Given the description of an element on the screen output the (x, y) to click on. 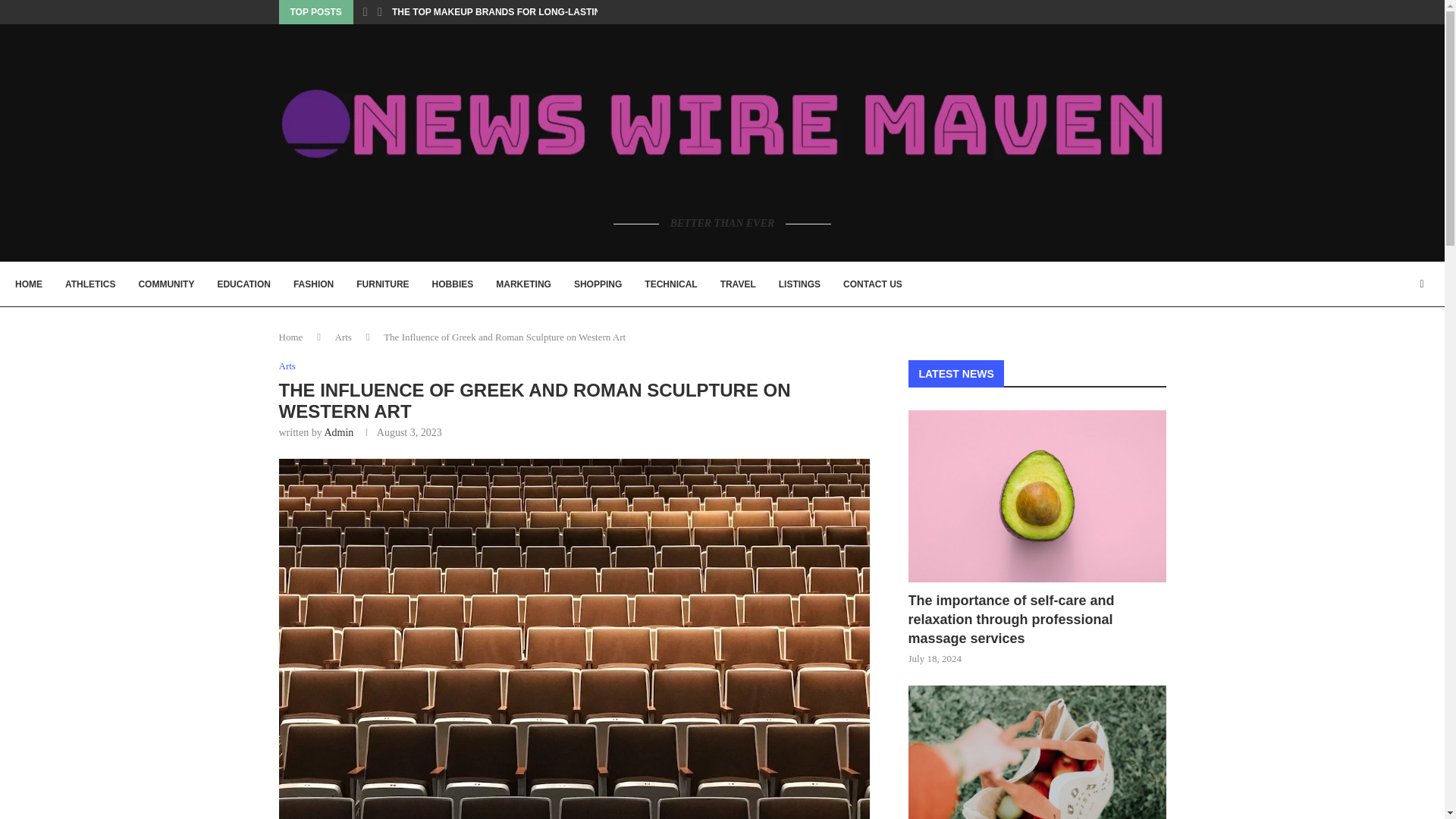
ATHLETICS (90, 284)
TRAVEL (737, 284)
COMMUNITY (165, 284)
HOBBIES (453, 284)
HOME (28, 284)
CONTACT US (872, 284)
EDUCATION (242, 284)
Home (290, 337)
FURNITURE (382, 284)
THE TOP MAKEUP BRANDS FOR LONG-LASTING AND PIGMENTED... (542, 12)
TECHNICAL (671, 284)
SHOPPING (597, 284)
LISTINGS (799, 284)
